Given the description of an element on the screen output the (x, y) to click on. 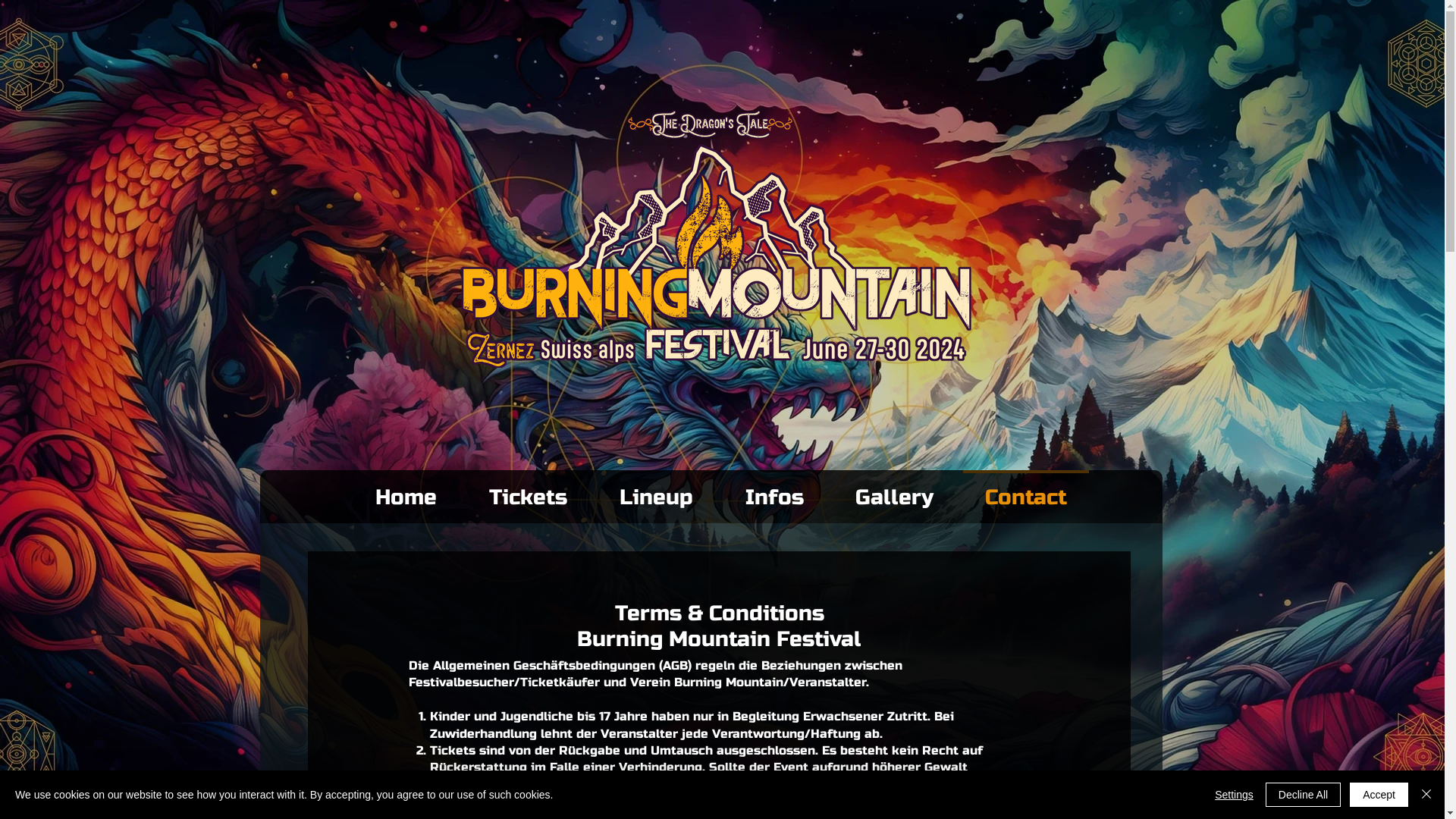
Home Element type: text (405, 490)
Lineup Element type: text (655, 490)
Gallery Element type: text (894, 490)
Contact Element type: text (1025, 490)
Infos Element type: text (773, 490)
banner.png Element type: hover (716, 238)
Tickets Element type: text (527, 490)
Decline All Element type: text (1302, 794)
Accept Element type: text (1378, 794)
